Given the description of an element on the screen output the (x, y) to click on. 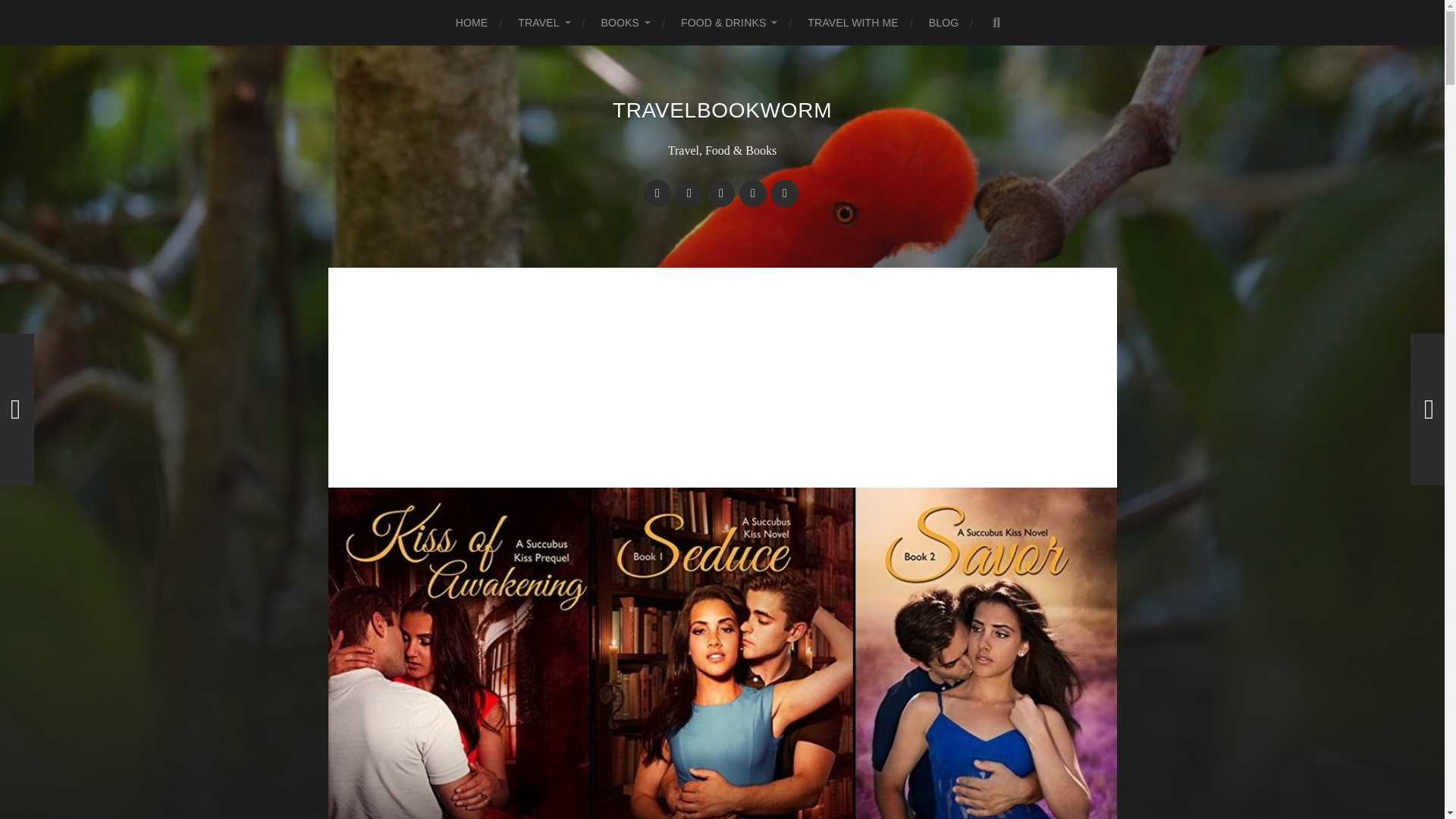
TRAVEL (544, 22)
BOOKS (625, 22)
